Given the description of an element on the screen output the (x, y) to click on. 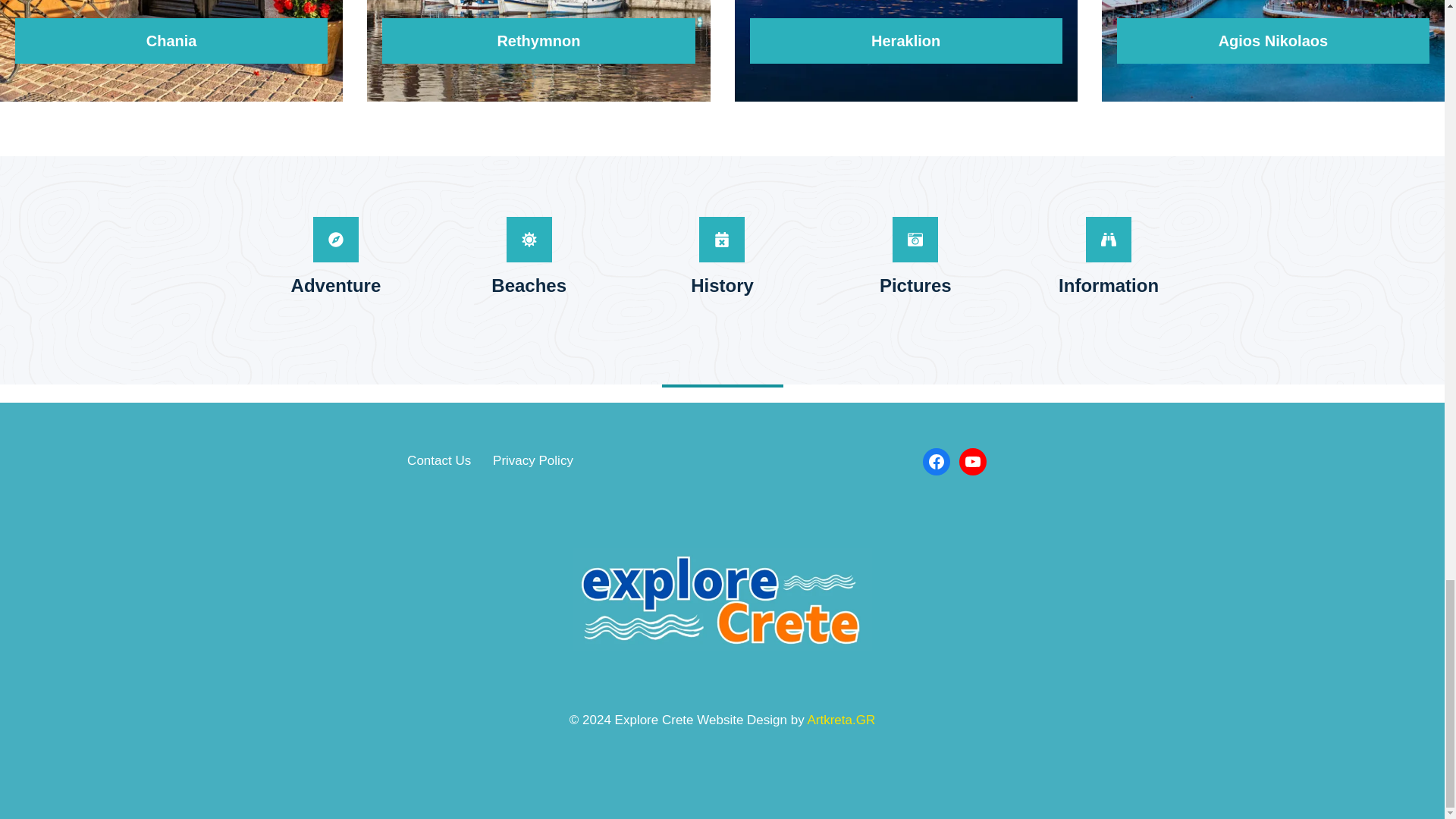
link to artkreta.gr (840, 719)
